Given the description of an element on the screen output the (x, y) to click on. 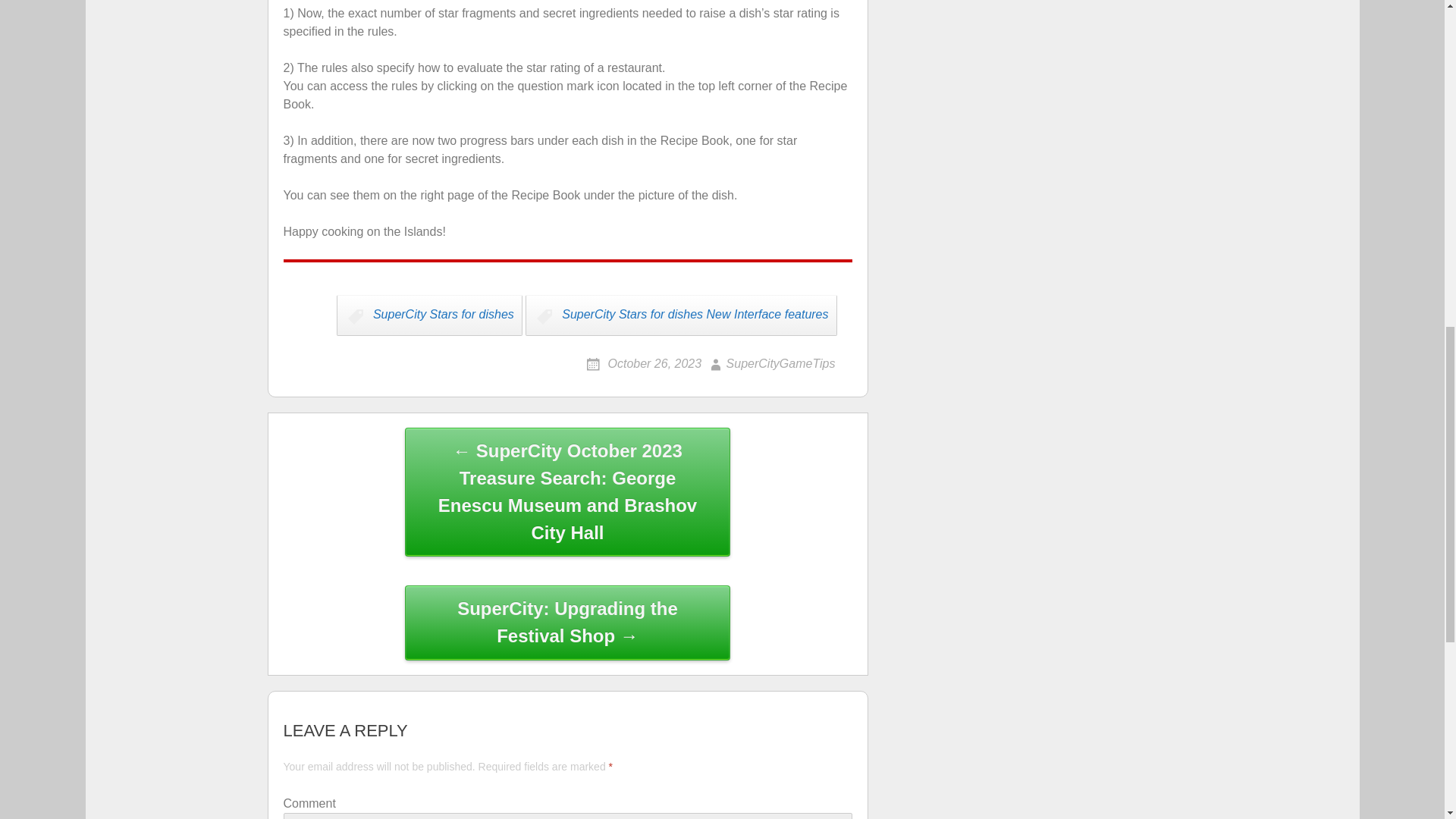
October 26, 2023 (643, 363)
SuperCity Stars for dishes New Interface features (680, 314)
SuperCity Stars for dishes (429, 314)
October 26, 2023 (643, 363)
SuperCityGameTips (769, 363)
SuperCityGameTips (769, 363)
